Given the description of an element on the screen output the (x, y) to click on. 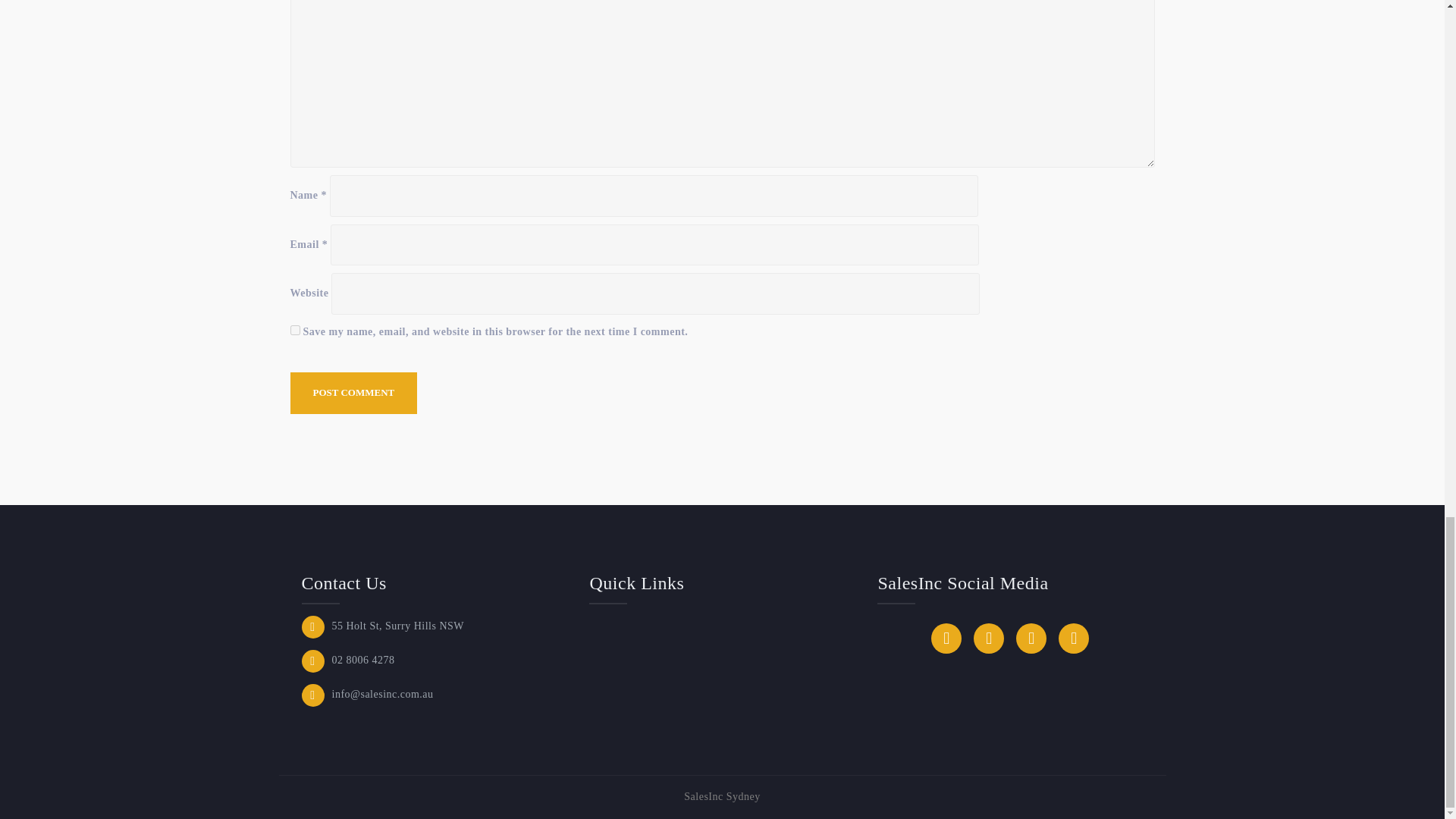
Facebook (1031, 638)
Post Comment (352, 393)
SalesInc Sydney (722, 796)
YouTube (989, 638)
Instagram (1073, 638)
LinkedIn (945, 638)
Post Comment (352, 393)
yes (294, 329)
